Given the description of an element on the screen output the (x, y) to click on. 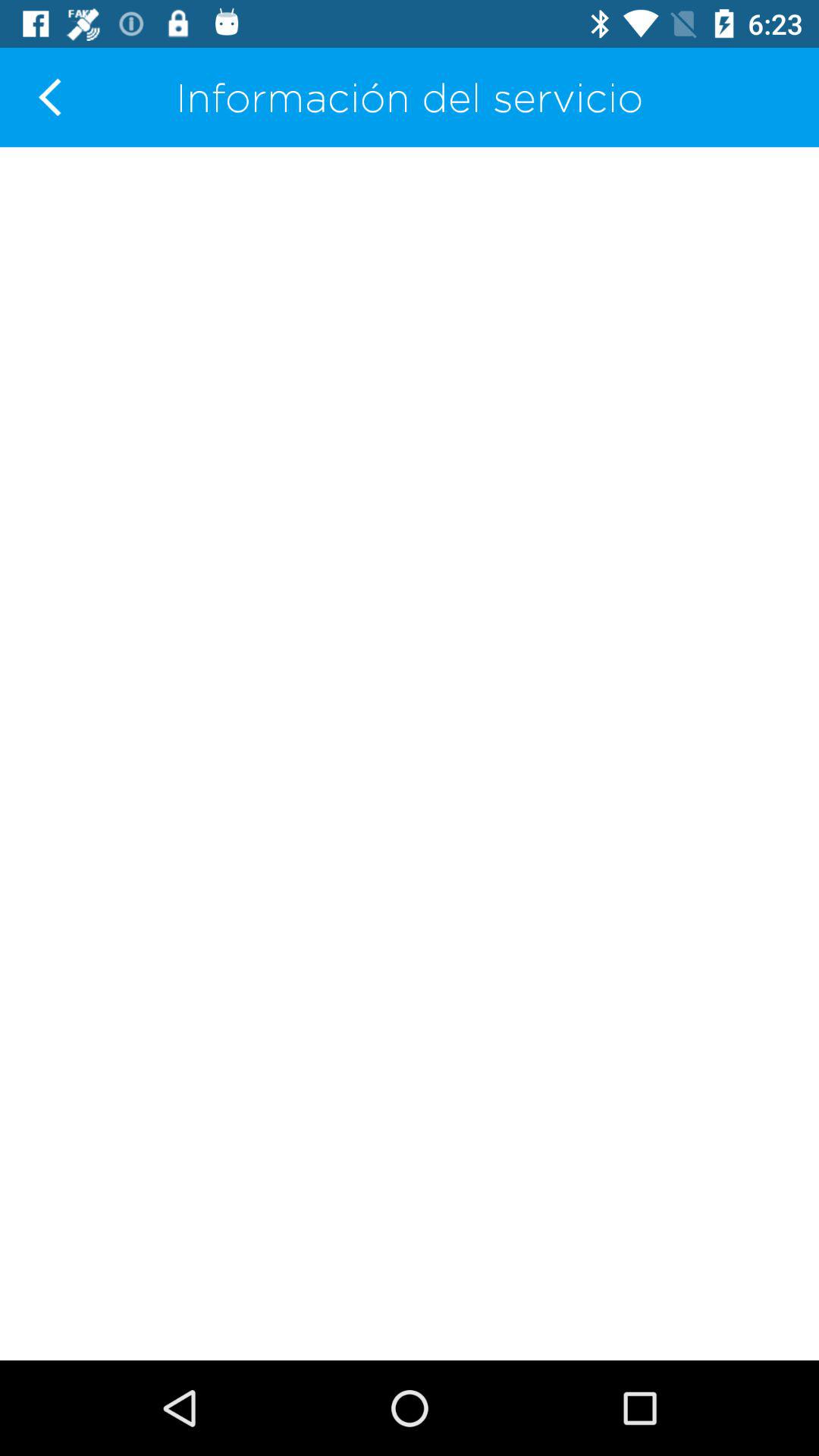
choose the item at the top left corner (49, 97)
